Given the description of an element on the screen output the (x, y) to click on. 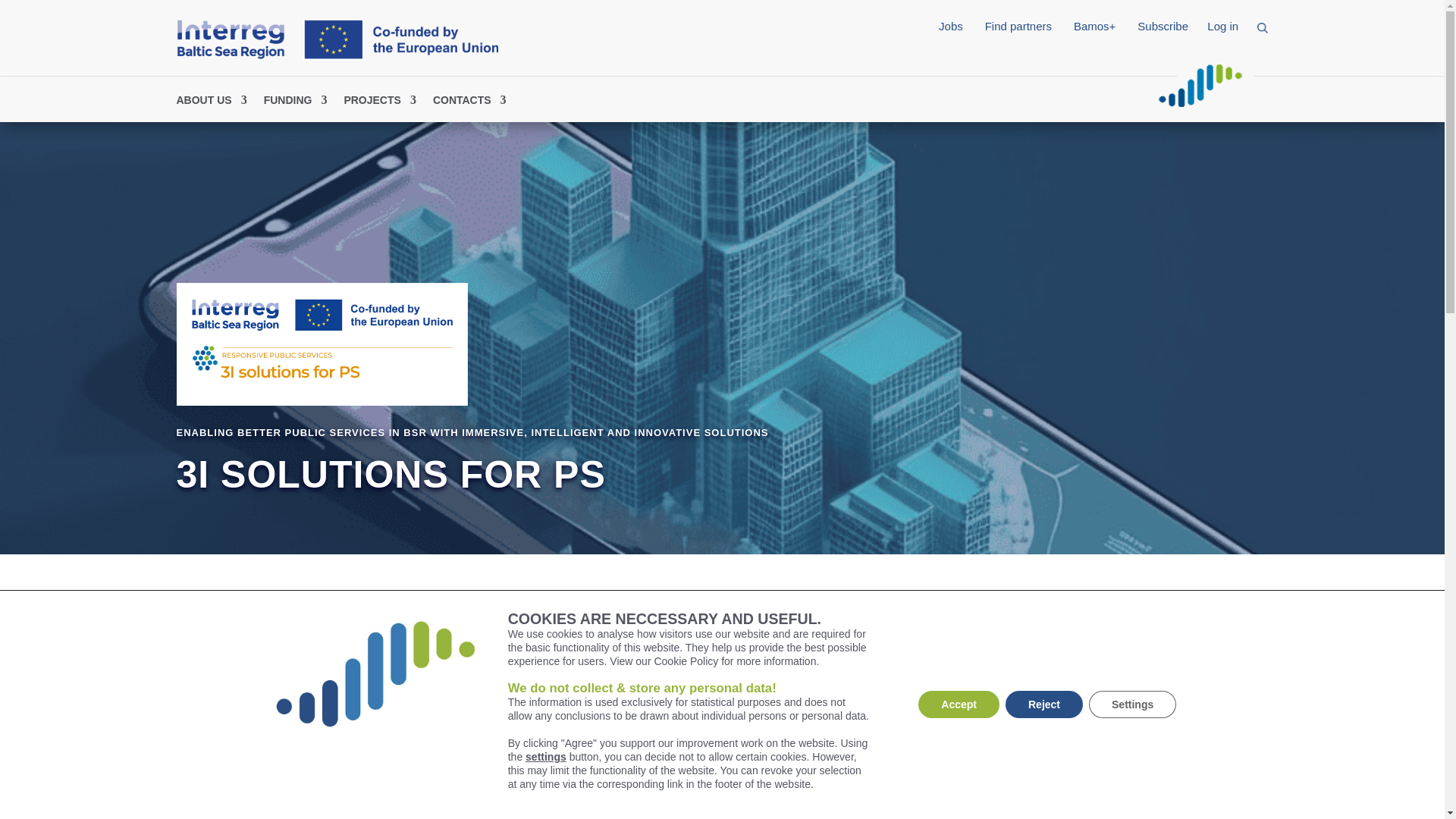
FUNDING (295, 103)
Find partners (864, 98)
VideoBolt-klein (1199, 85)
PROJECTS (378, 103)
Find partners (1018, 25)
Subscribe (1162, 25)
Log in (930, 98)
Log in (1223, 25)
Jobs (950, 25)
CONTACTS (469, 103)
ABOUT US (211, 103)
